Given the description of an element on the screen output the (x, y) to click on. 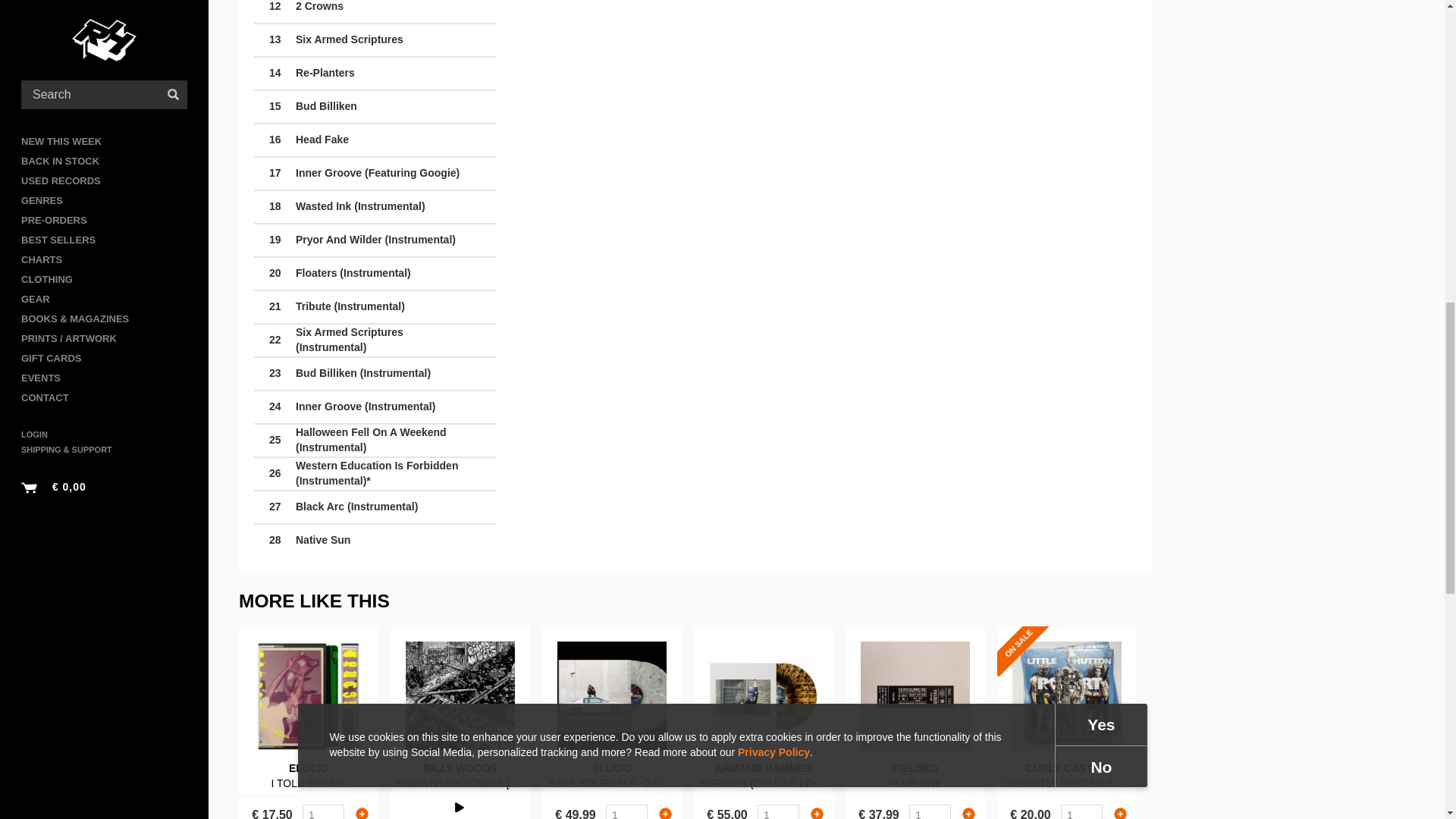
1 (322, 811)
1 (929, 811)
1 (626, 811)
1 (778, 811)
1 (1081, 811)
